Given the description of an element on the screen output the (x, y) to click on. 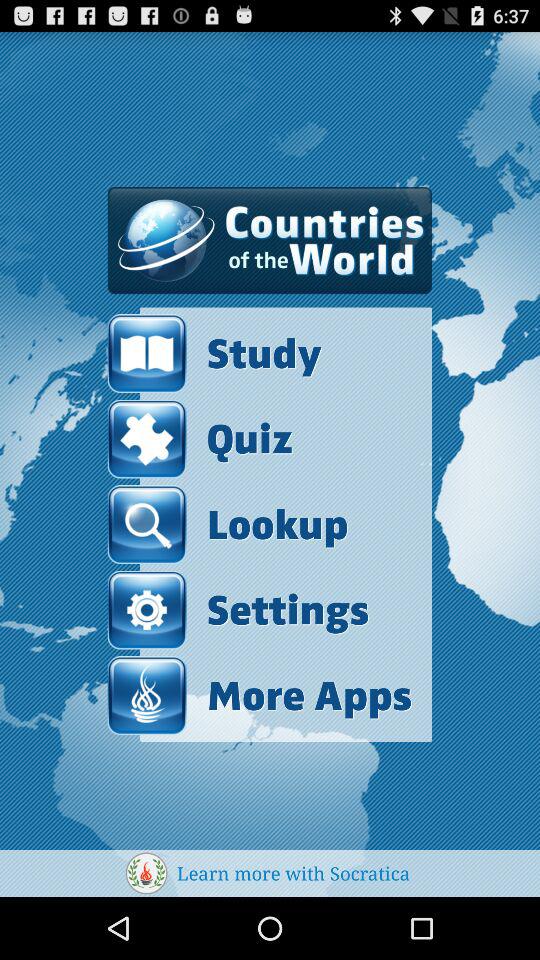
swipe to the lookup (227, 524)
